Given the description of an element on the screen output the (x, y) to click on. 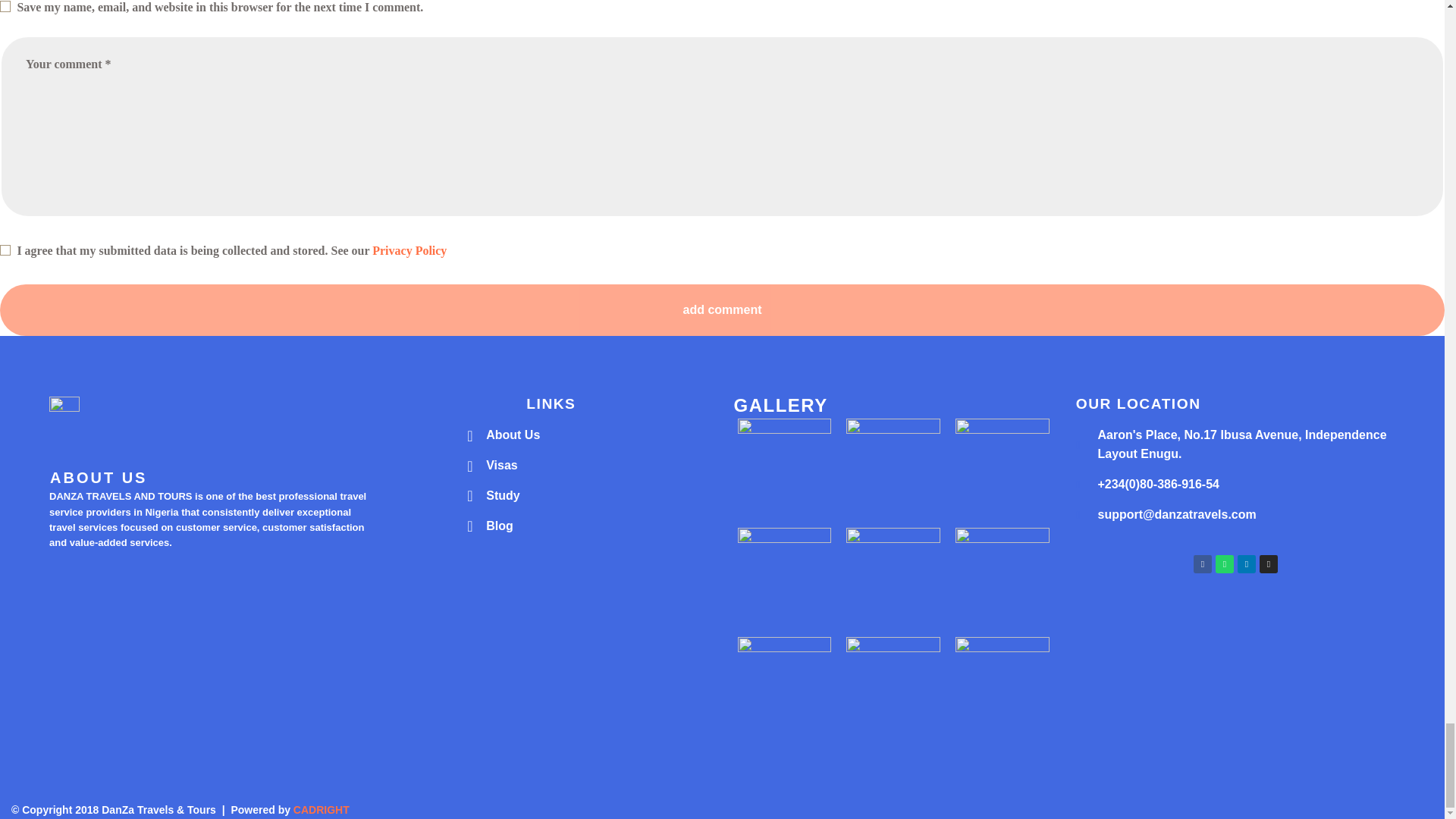
add comment (722, 309)
